Given the description of an element on the screen output the (x, y) to click on. 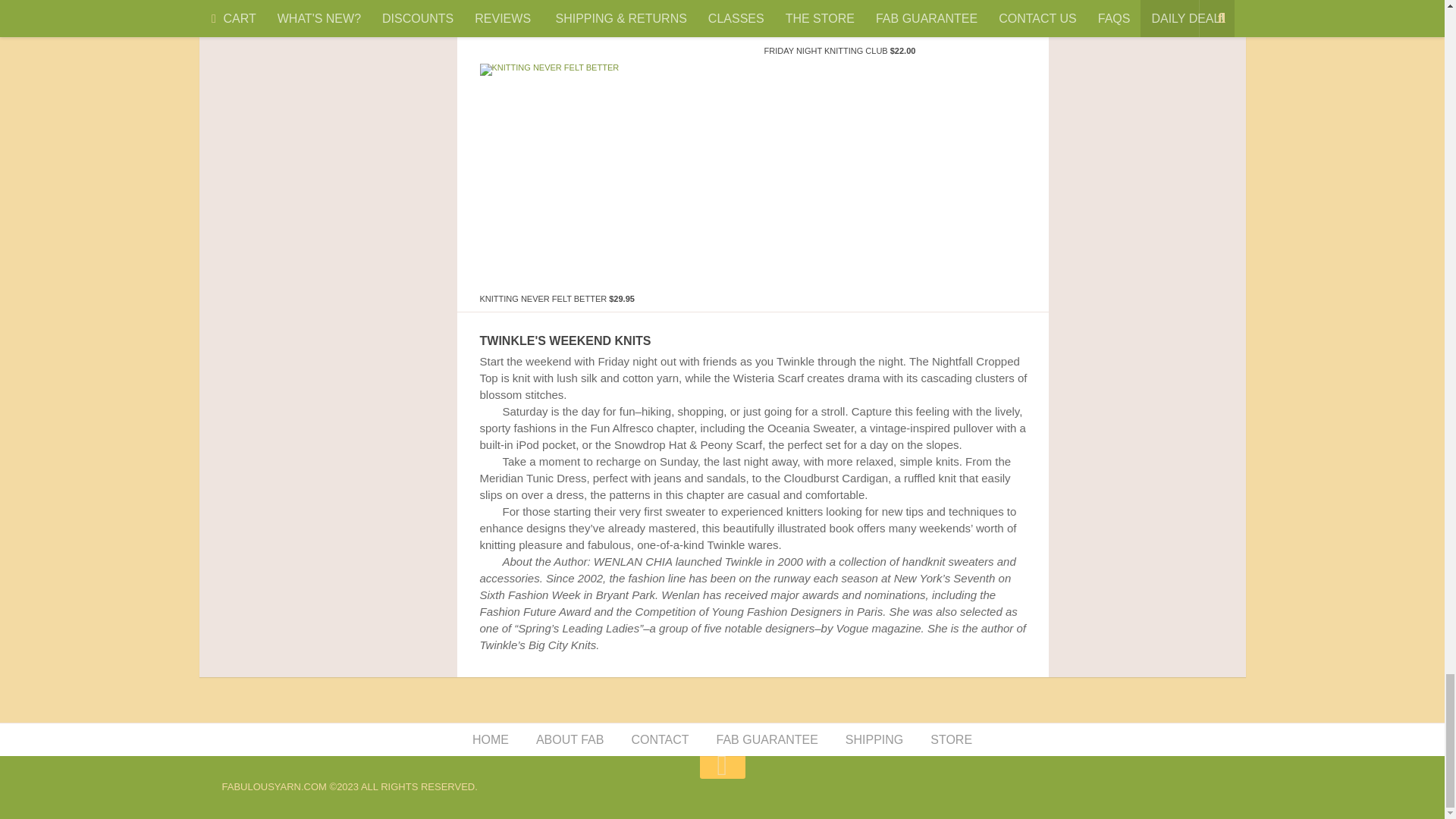
Return to top of page (721, 765)
